Given the description of an element on the screen output the (x, y) to click on. 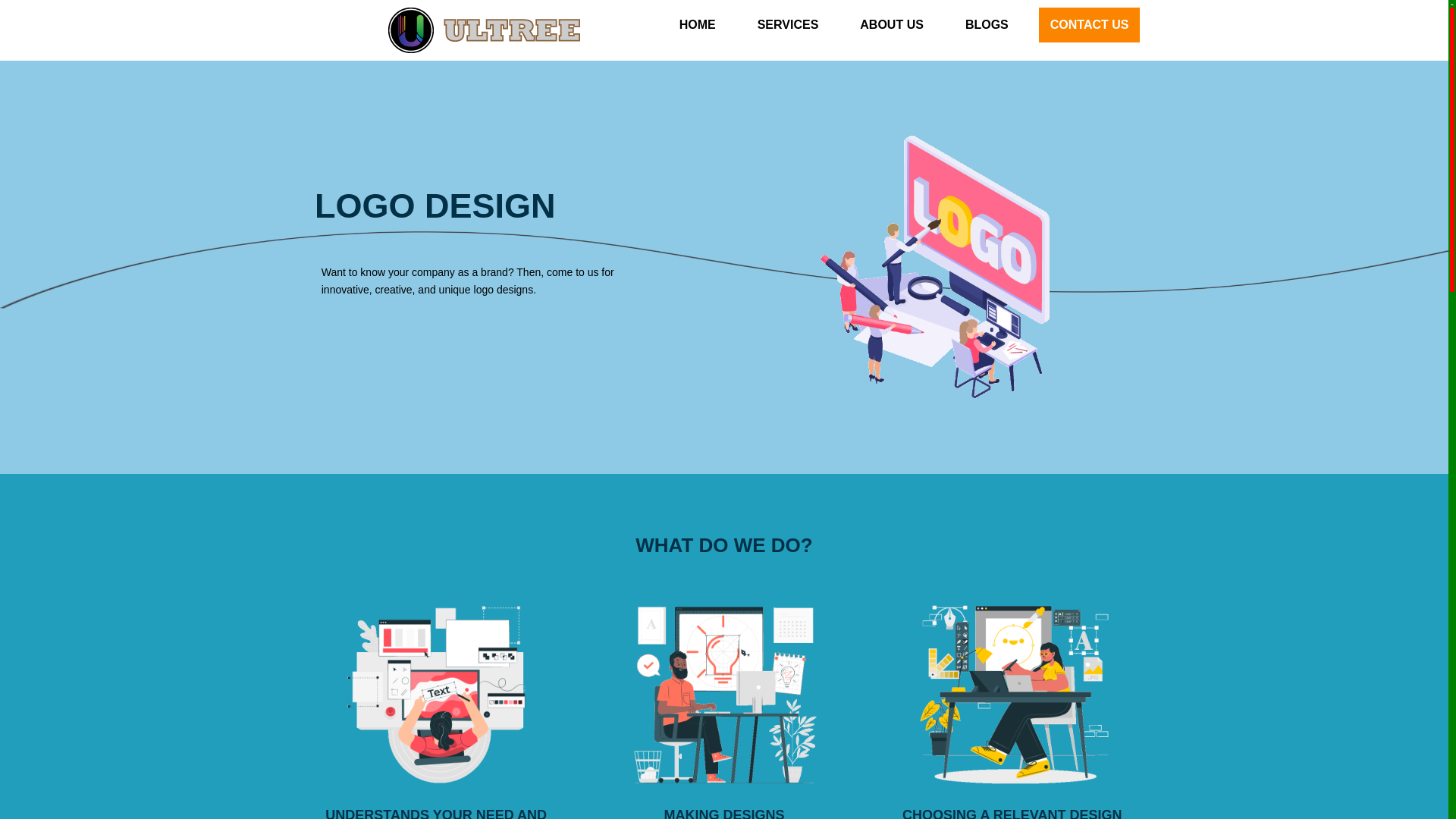
ABOUT US (891, 24)
HOME (697, 24)
ultree (485, 30)
CONTACT US (1089, 24)
logo-de (940, 267)
BLOGS (986, 24)
SERVICES (787, 24)
